Given the description of an element on the screen output the (x, y) to click on. 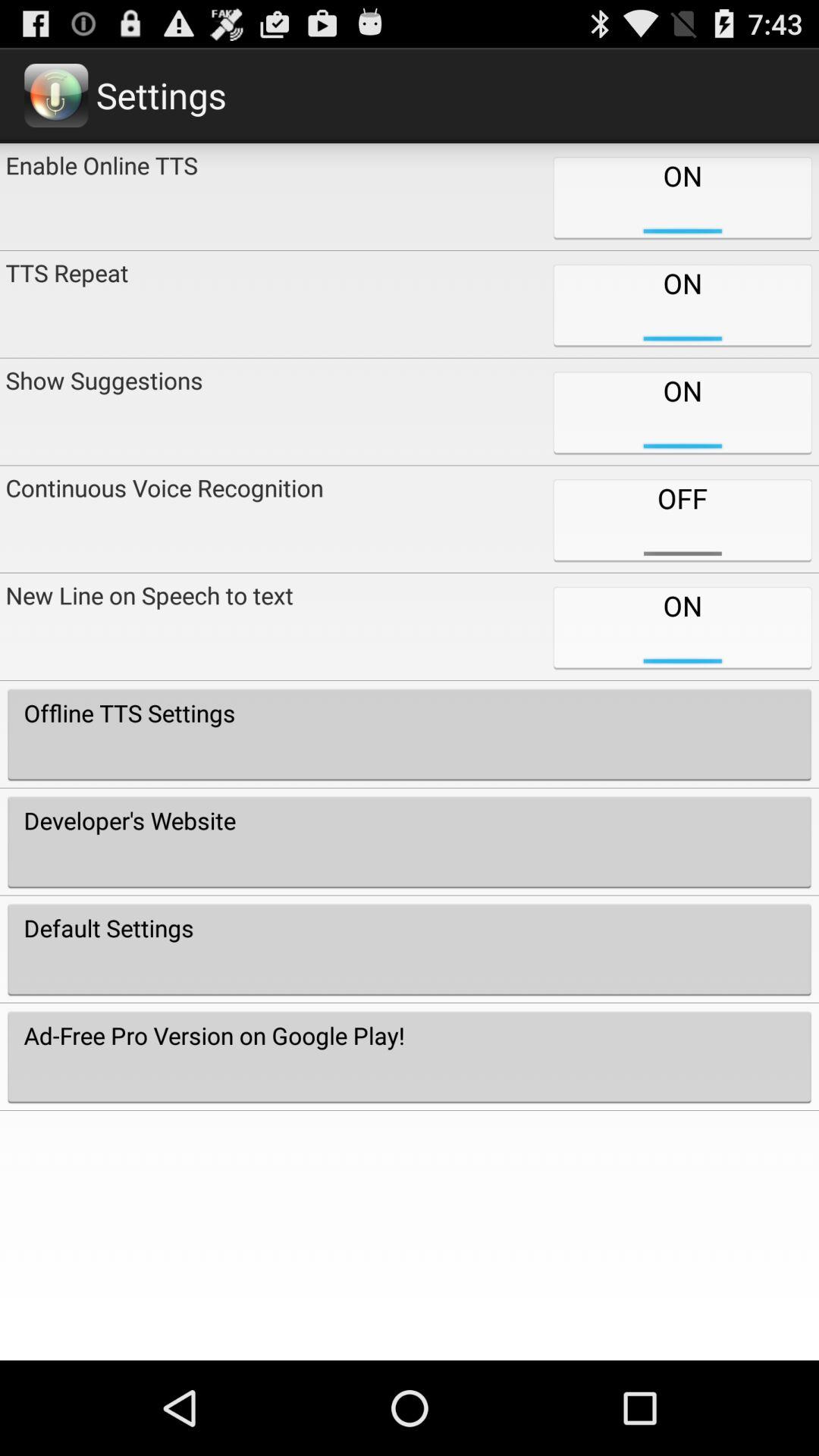
select the ad free pro button (409, 1056)
